Given the description of an element on the screen output the (x, y) to click on. 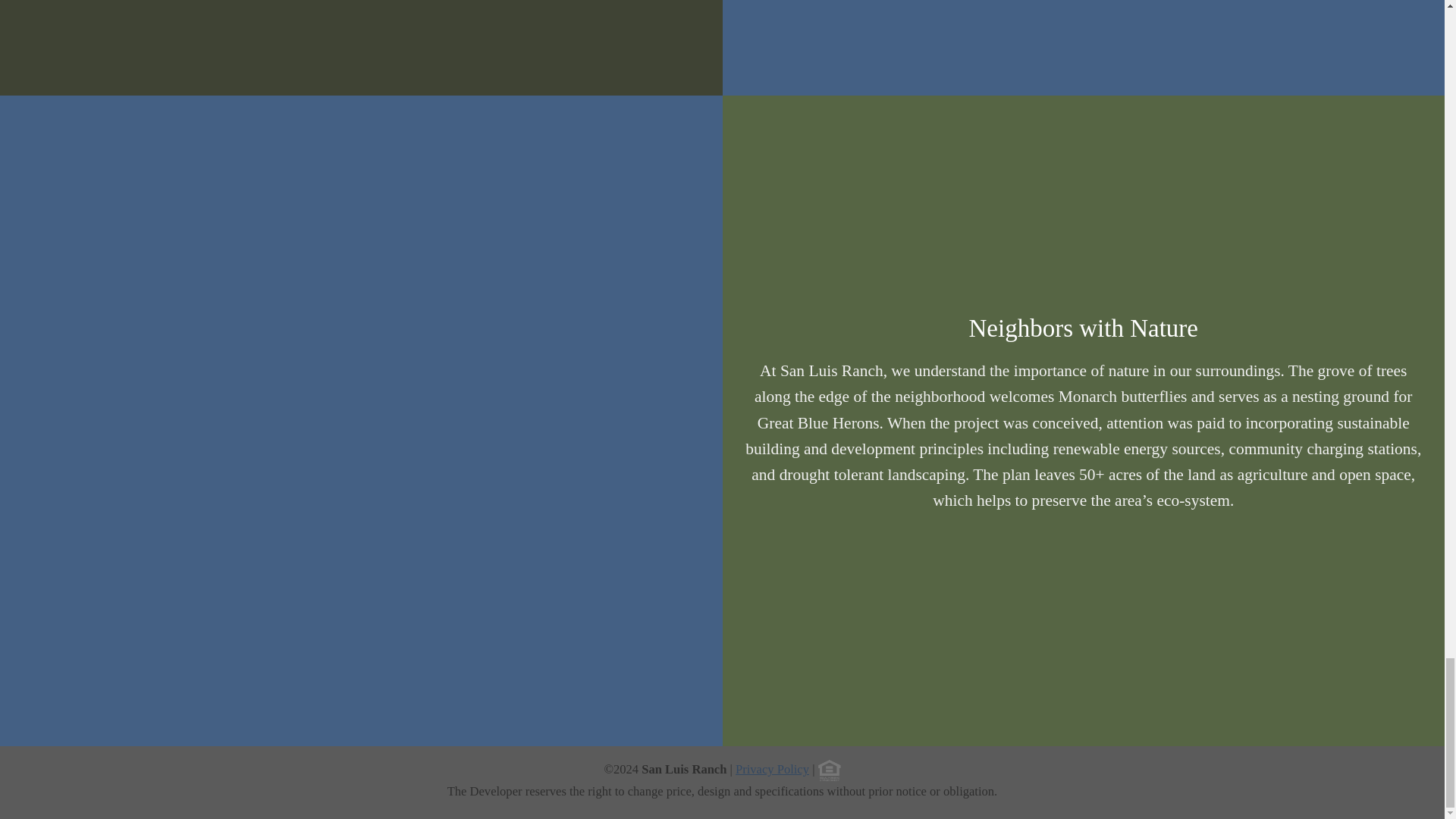
Privacy Policy (773, 769)
